Given the description of an element on the screen output the (x, y) to click on. 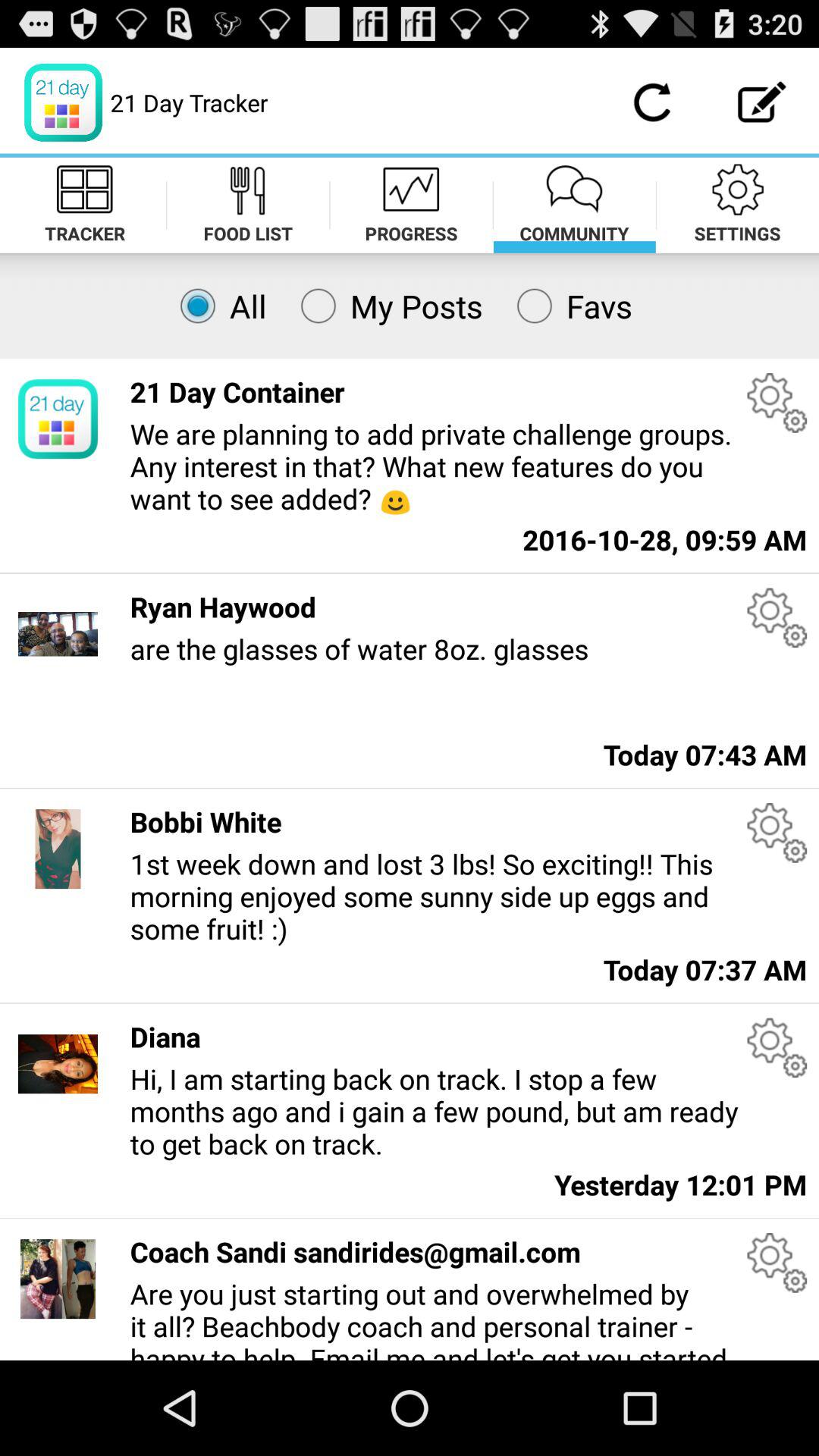
open settings for the users post (777, 832)
